Given the description of an element on the screen output the (x, y) to click on. 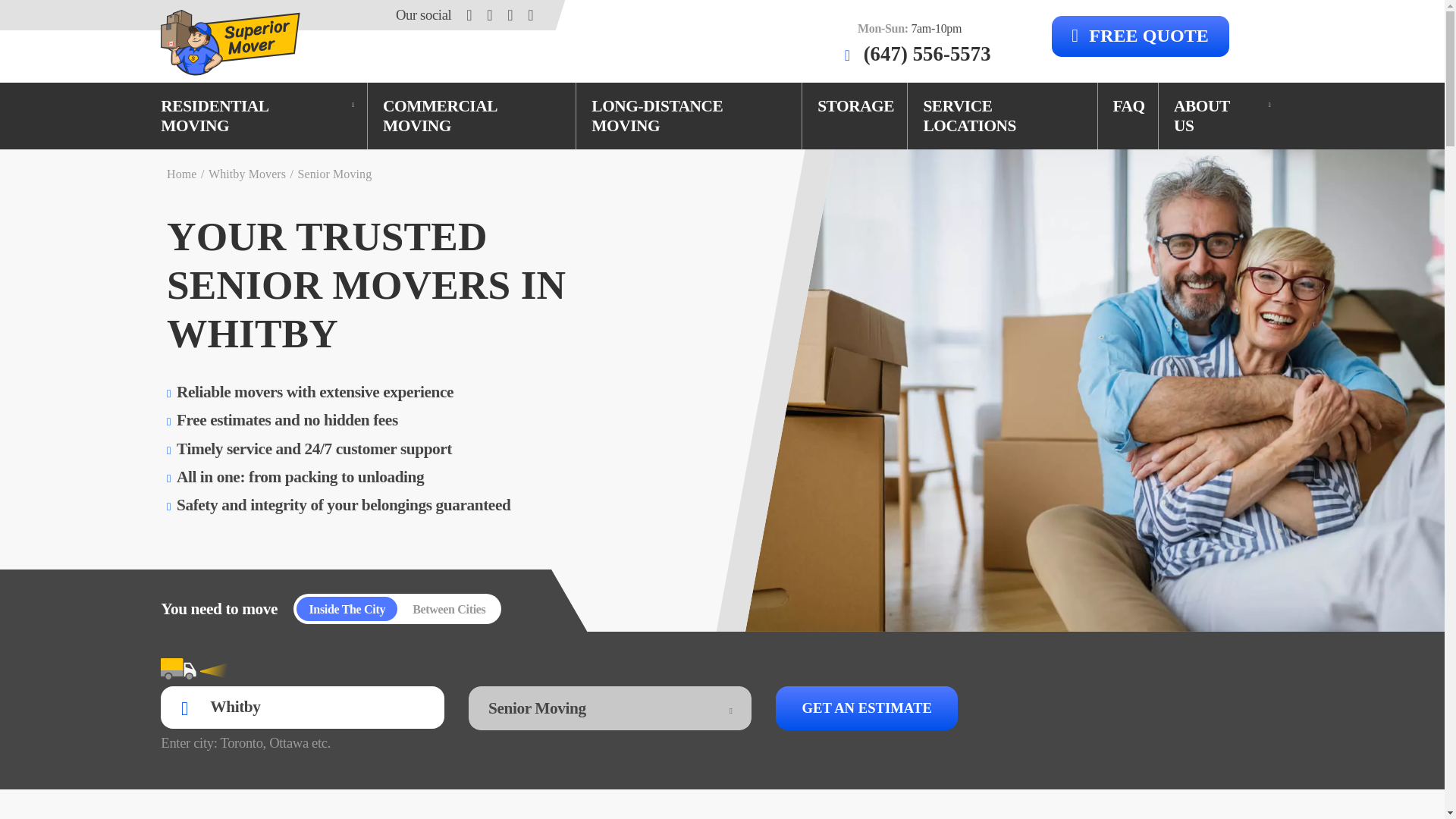
STORAGE (854, 106)
RESIDENTIAL MOVING (256, 116)
COMMERCIAL MOVING (472, 116)
Whitby (302, 706)
GET AN ESTIMATE (867, 707)
SERVICE LOCATIONS (1003, 116)
LONG-DISTANCE MOVING (689, 116)
Whitby Movers (246, 173)
Whitby (302, 706)
Home (181, 173)
